Given the description of an element on the screen output the (x, y) to click on. 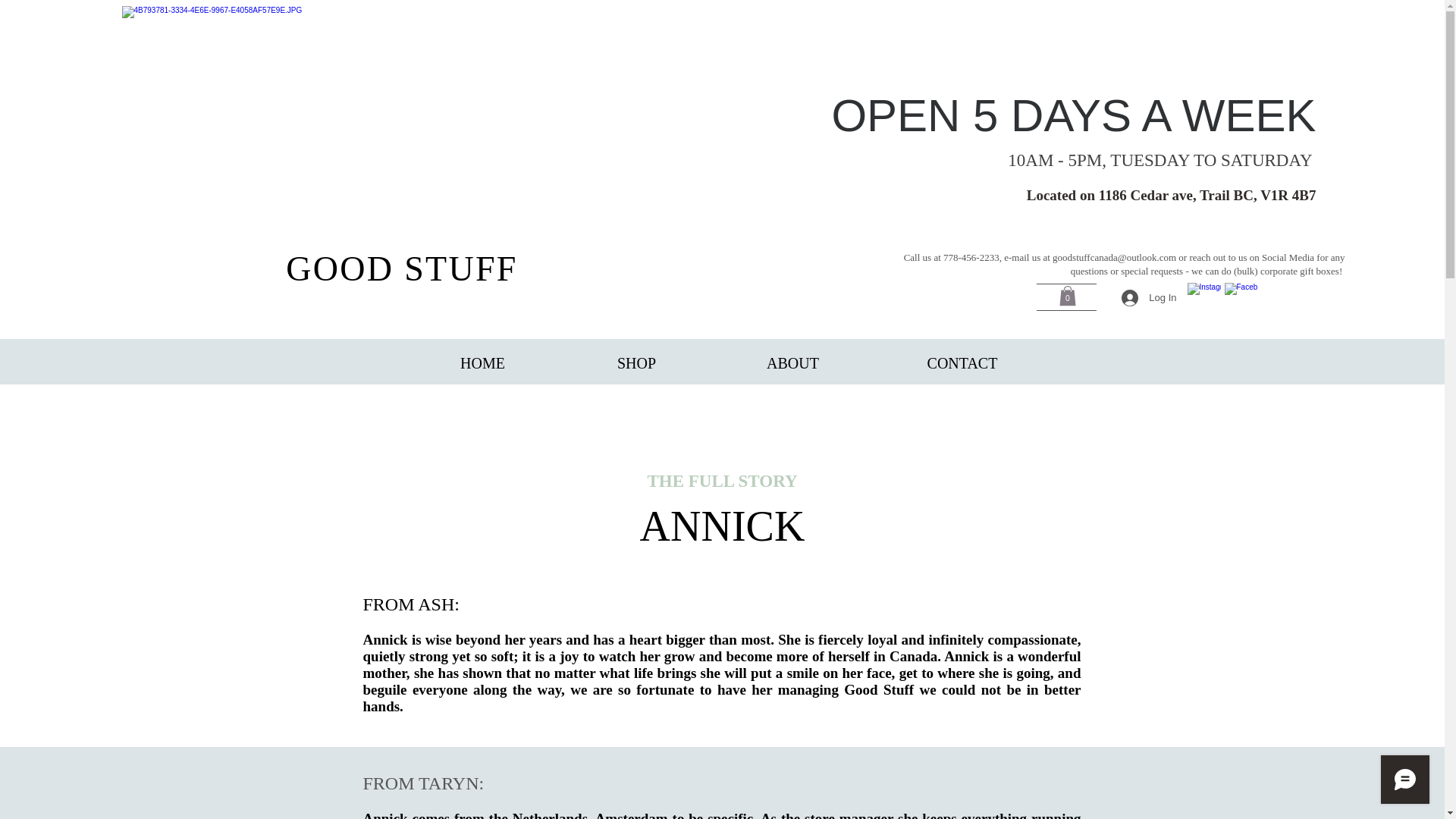
CONTACT (962, 356)
Log In (1148, 298)
GOOD STUFF (400, 268)
ABOUT (793, 356)
HOME (482, 356)
